Given the description of an element on the screen output the (x, y) to click on. 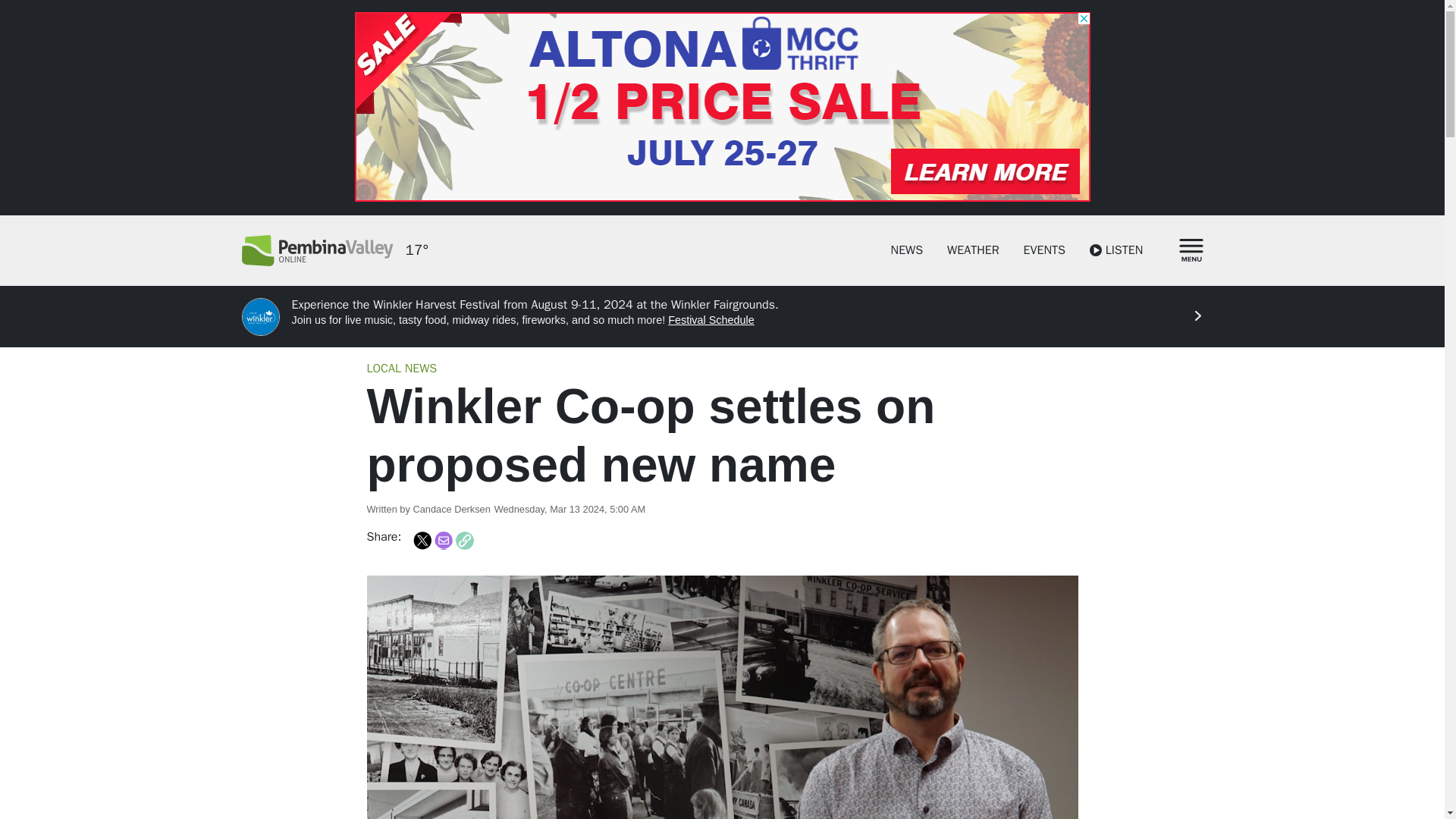
Copy Link (464, 540)
Share to Email (442, 540)
